Given the description of an element on the screen output the (x, y) to click on. 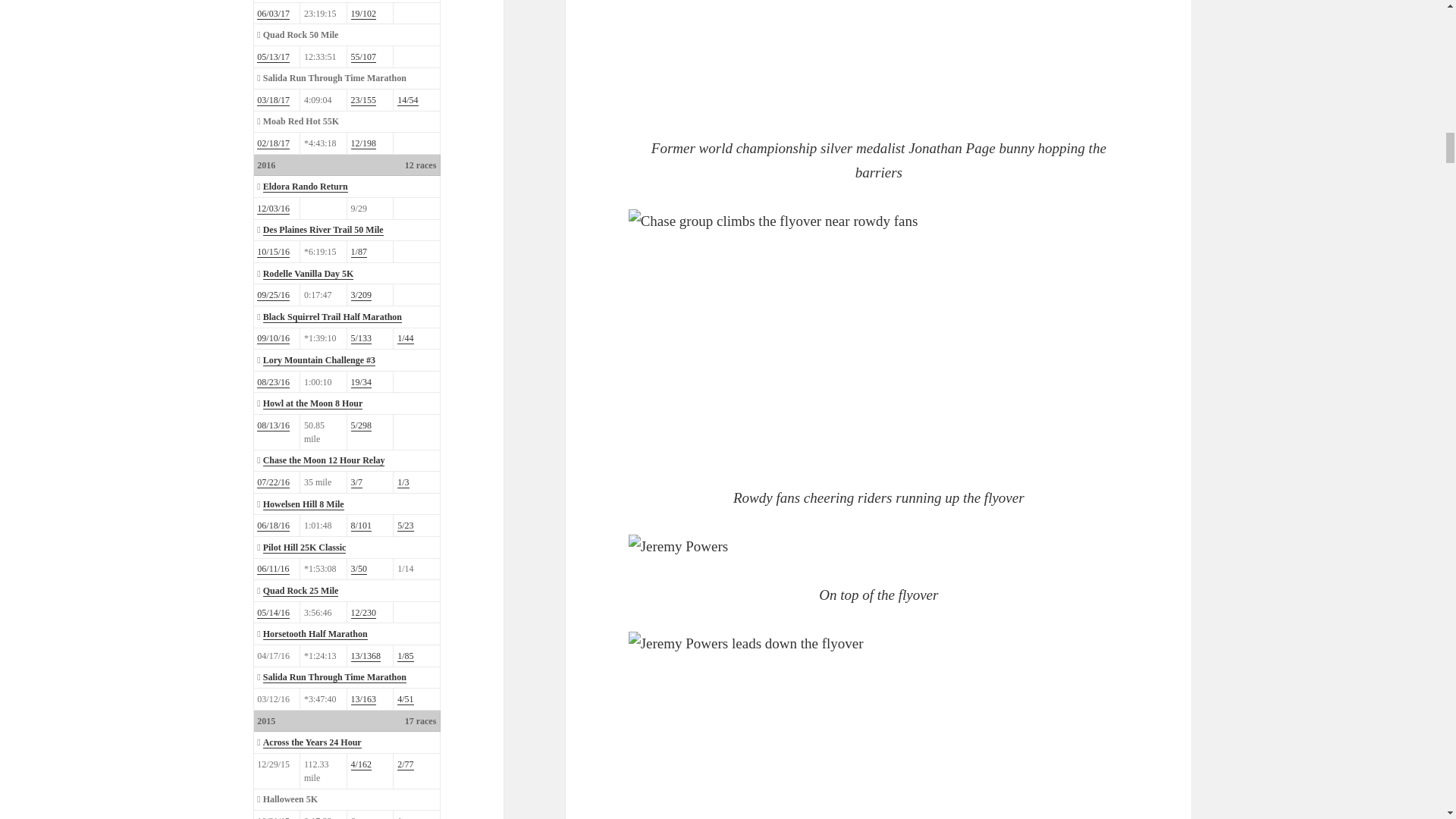
View 'Jeremy Powers' on Flickr.com (878, 546)
Chase group climbs the flyover near rowdy fans (817, 335)
Jonathan Page bunny hops the barriers as Ben Berden runs (817, 56)
